Given the description of an element on the screen output the (x, y) to click on. 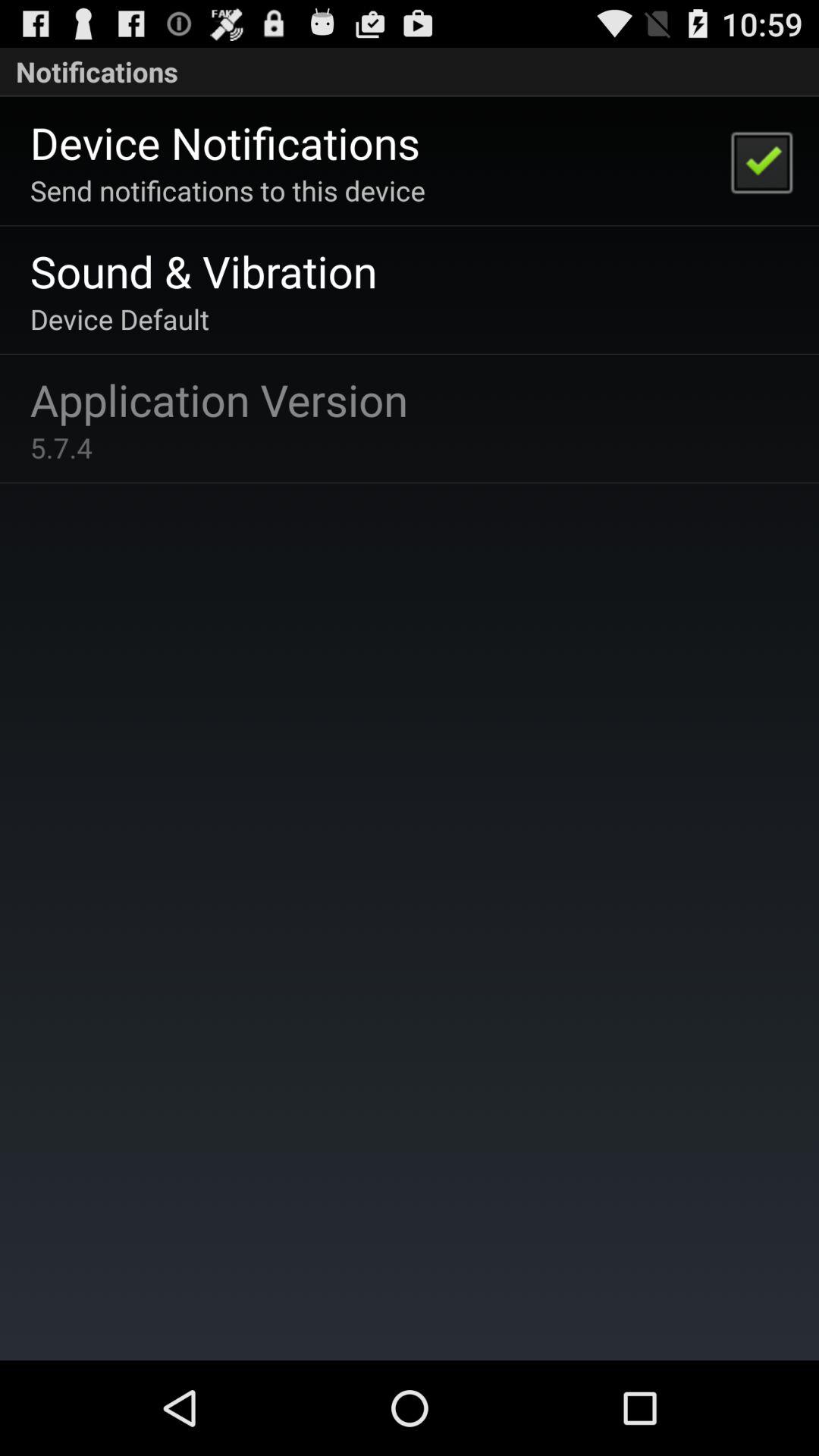
open the icon below the notifications (761, 161)
